Given the description of an element on the screen output the (x, y) to click on. 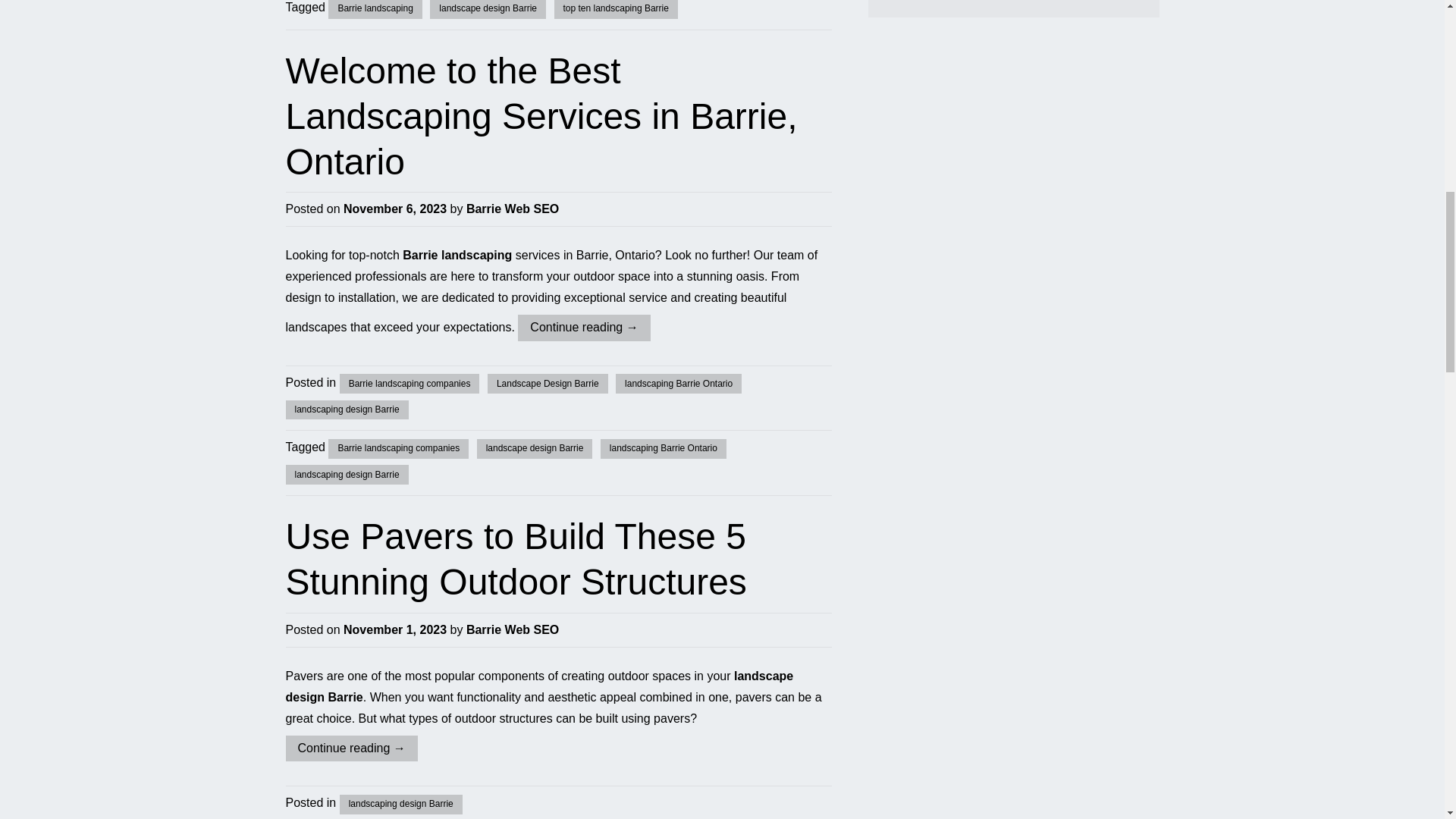
landscaping Barrie Ontario (662, 448)
landscaping design Barrie (346, 410)
Barrie landscaping (375, 9)
Barrie Web SEO (512, 208)
Use Pavers to Build These 5 Stunning Outdoor Structures (515, 558)
Welcome to the Best Landscaping Services in Barrie, Ontario (540, 115)
landscaping Barrie Ontario (678, 383)
landscape design Barrie (487, 9)
Landscape Design Barrie (547, 383)
Barrie landscaping companies (398, 448)
November 6, 2023 (394, 208)
8:37 pm (394, 208)
landscape design Barrie (534, 448)
landscape design Barrie (539, 686)
landscaping design Barrie (346, 474)
